Given the description of an element on the screen output the (x, y) to click on. 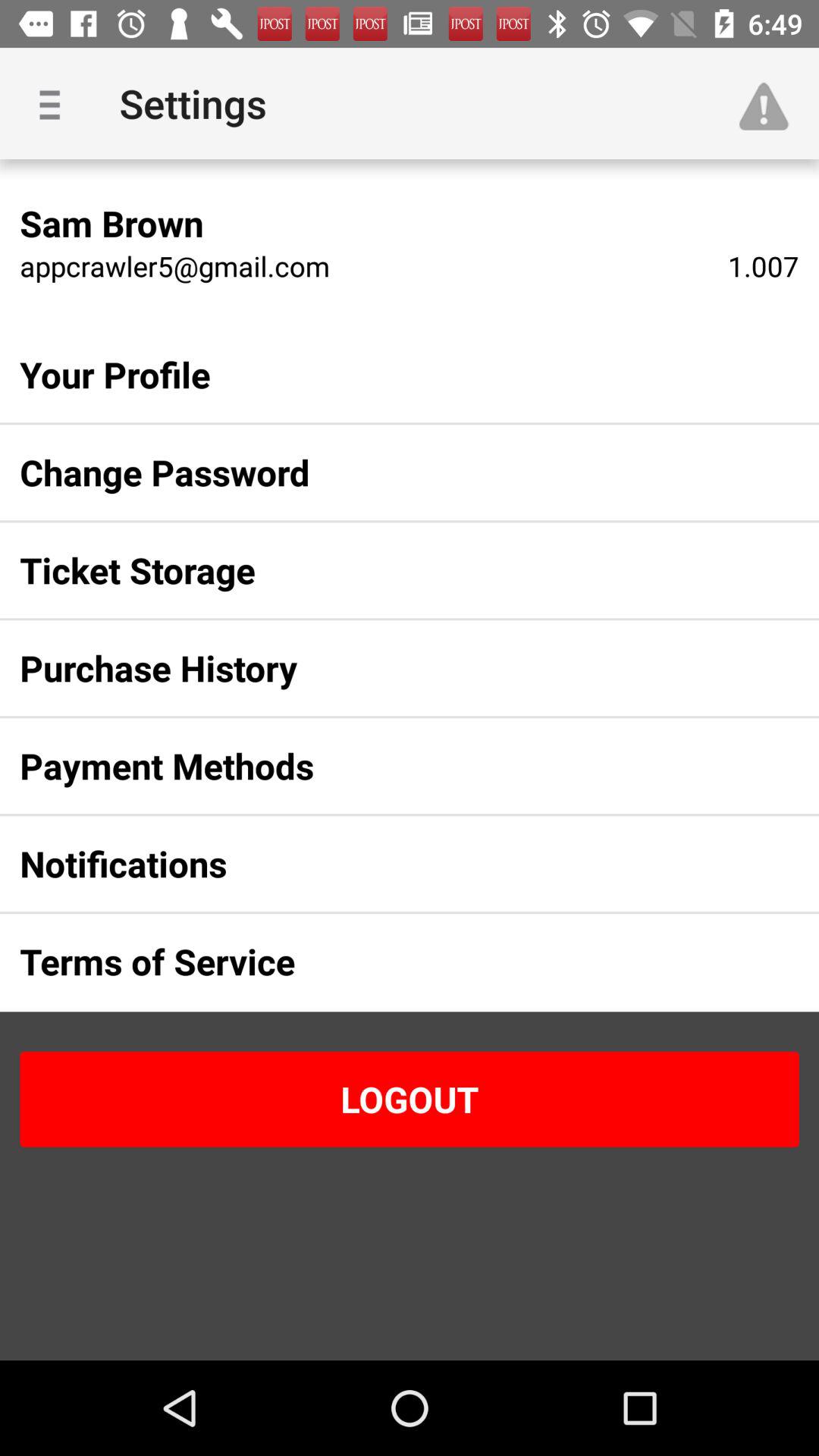
open appcrawler5@gmail.com (174, 265)
